Given the description of an element on the screen output the (x, y) to click on. 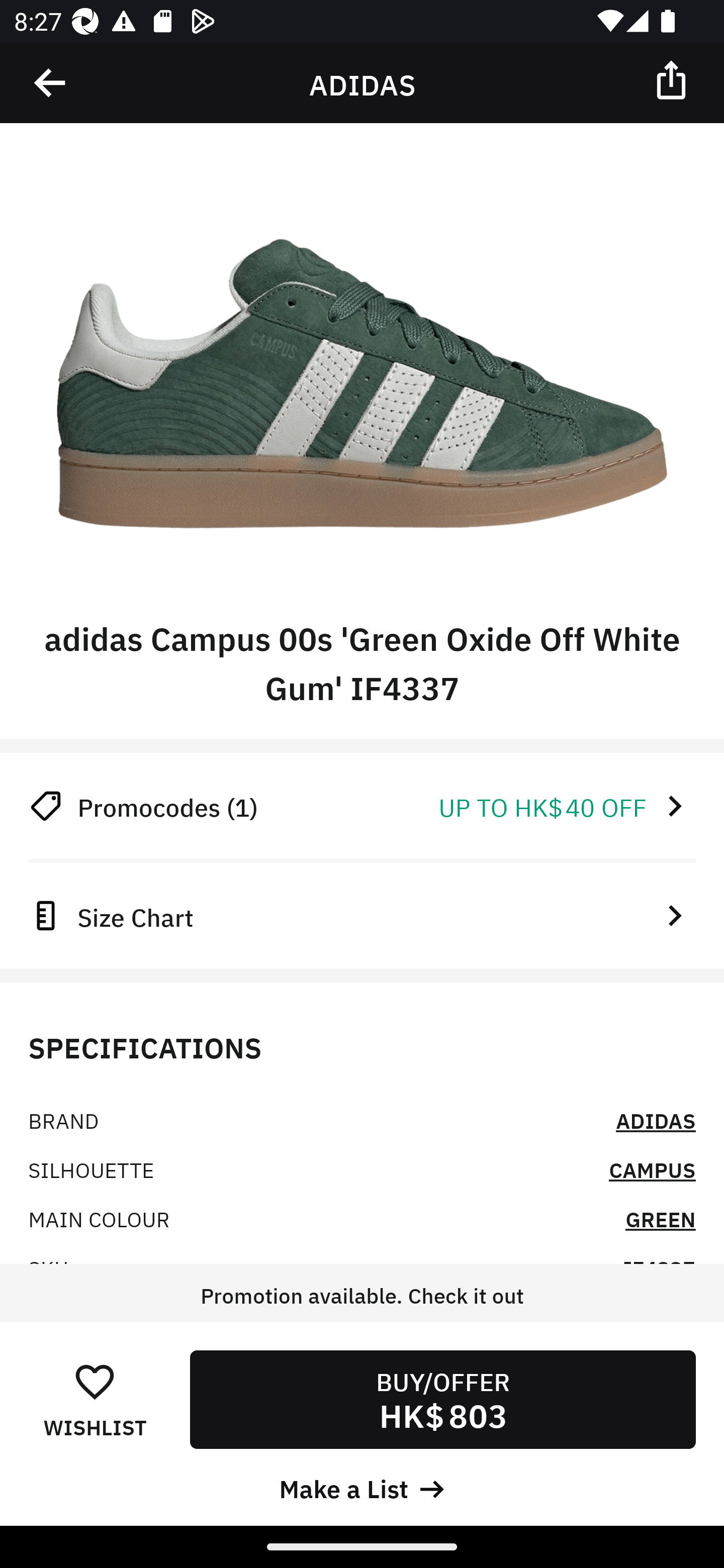
 (50, 83)
 (672, 79)
Promocodes (1) UP TO HK$ 40 OFF  (361, 805)
Size Chart  (361, 914)
ADIDAS (655, 1119)
CAMPUS (651, 1168)
GREEN (660, 1218)
BUY/OFFER HK$ 803 (442, 1399)
󰋕 (94, 1380)
Make a List (361, 1486)
